Given the description of an element on the screen output the (x, y) to click on. 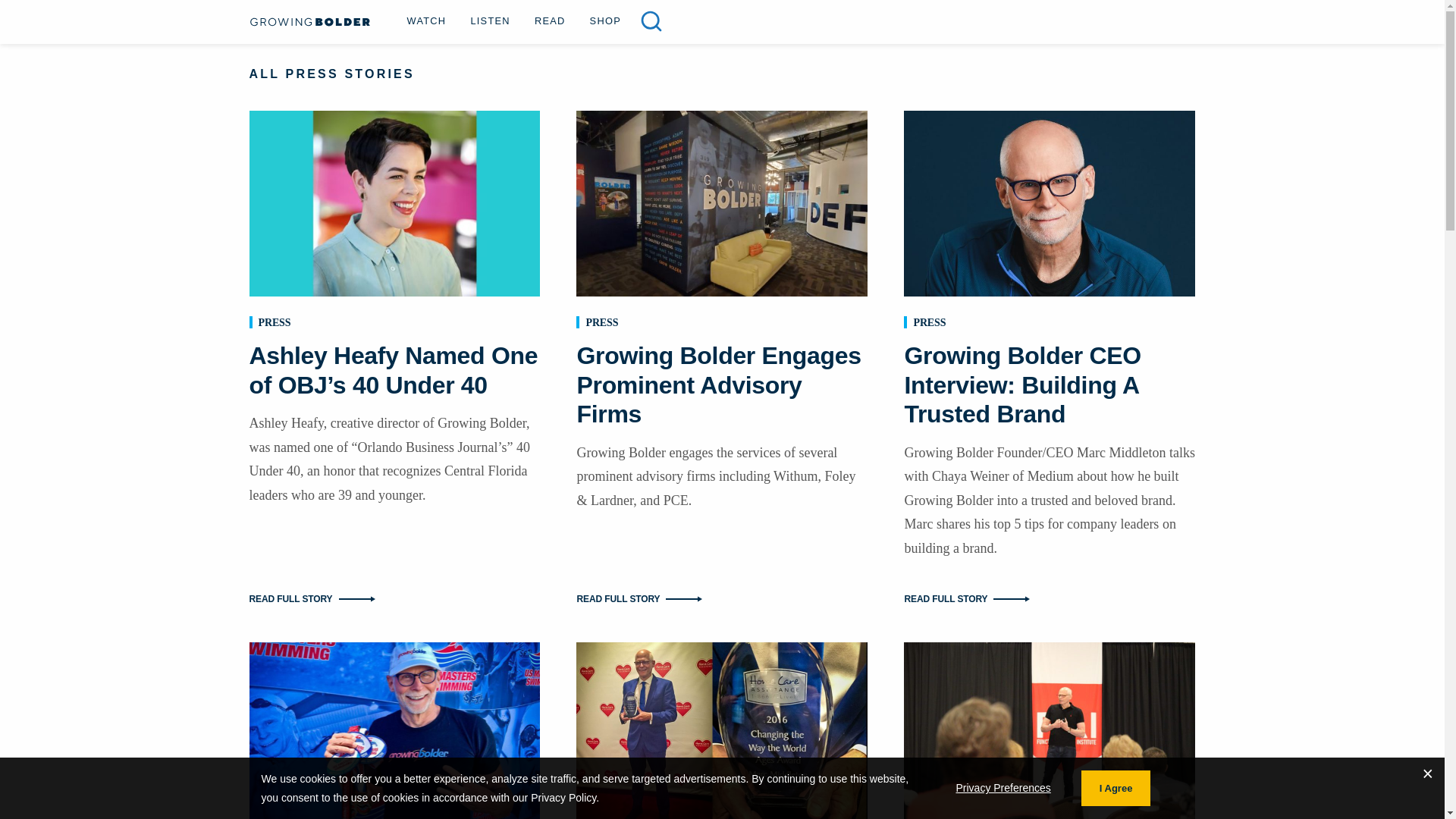
Search (651, 22)
LISTEN (489, 20)
Search (39, 15)
WATCH (426, 20)
Link to: Press (928, 322)
Growing Bolder Engages Prominent Advisory Firms (718, 384)
Link to: Press (273, 322)
PRESS (928, 322)
Link to: Read Full Story    (721, 598)
